Given the description of an element on the screen output the (x, y) to click on. 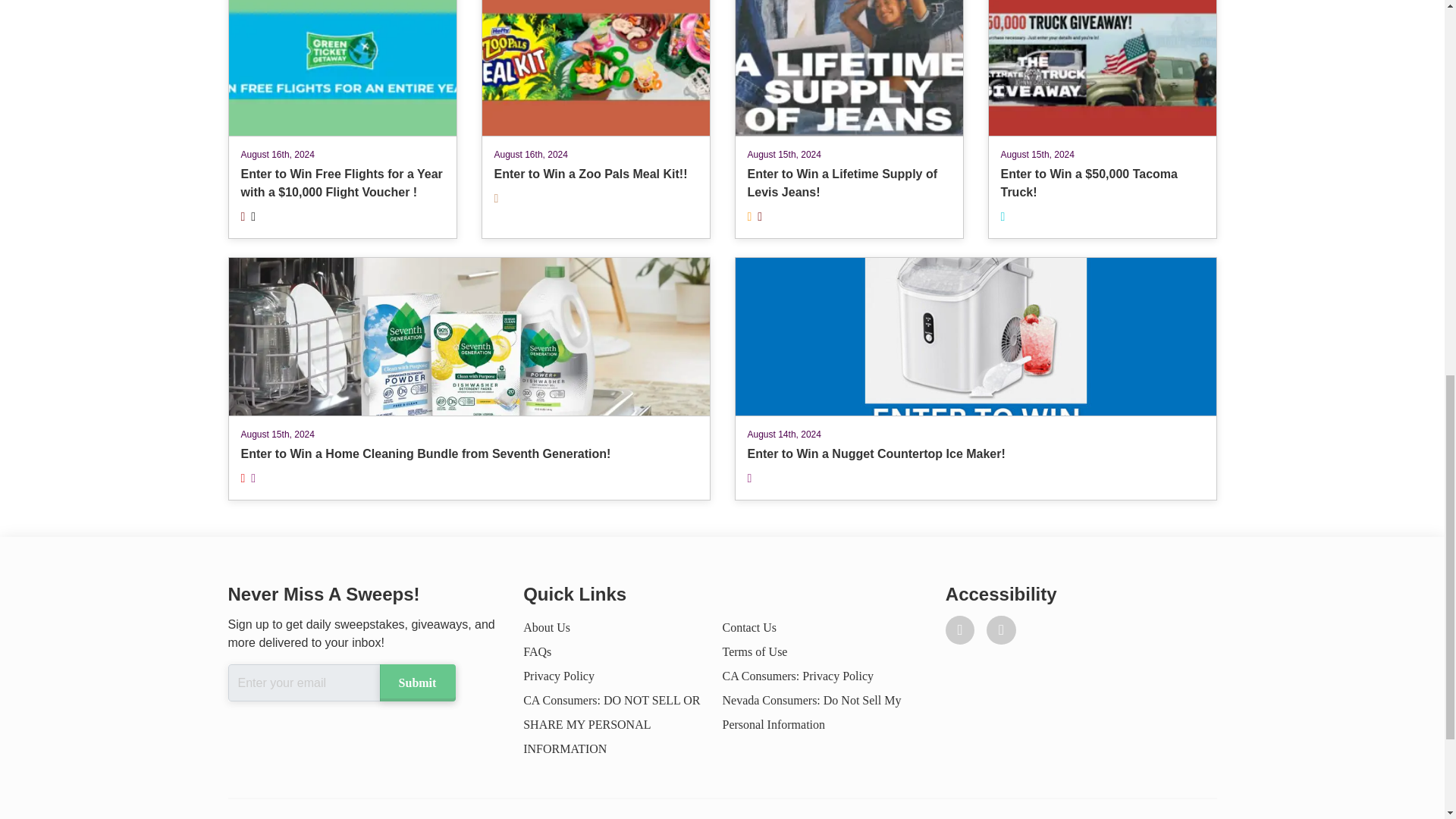
CA Consumers: Privacy Policy (797, 675)
Privacy Policy (558, 675)
Terms of Use (754, 651)
About Us (546, 626)
Contact Us (749, 626)
FAQs (595, 119)
